Given the description of an element on the screen output the (x, y) to click on. 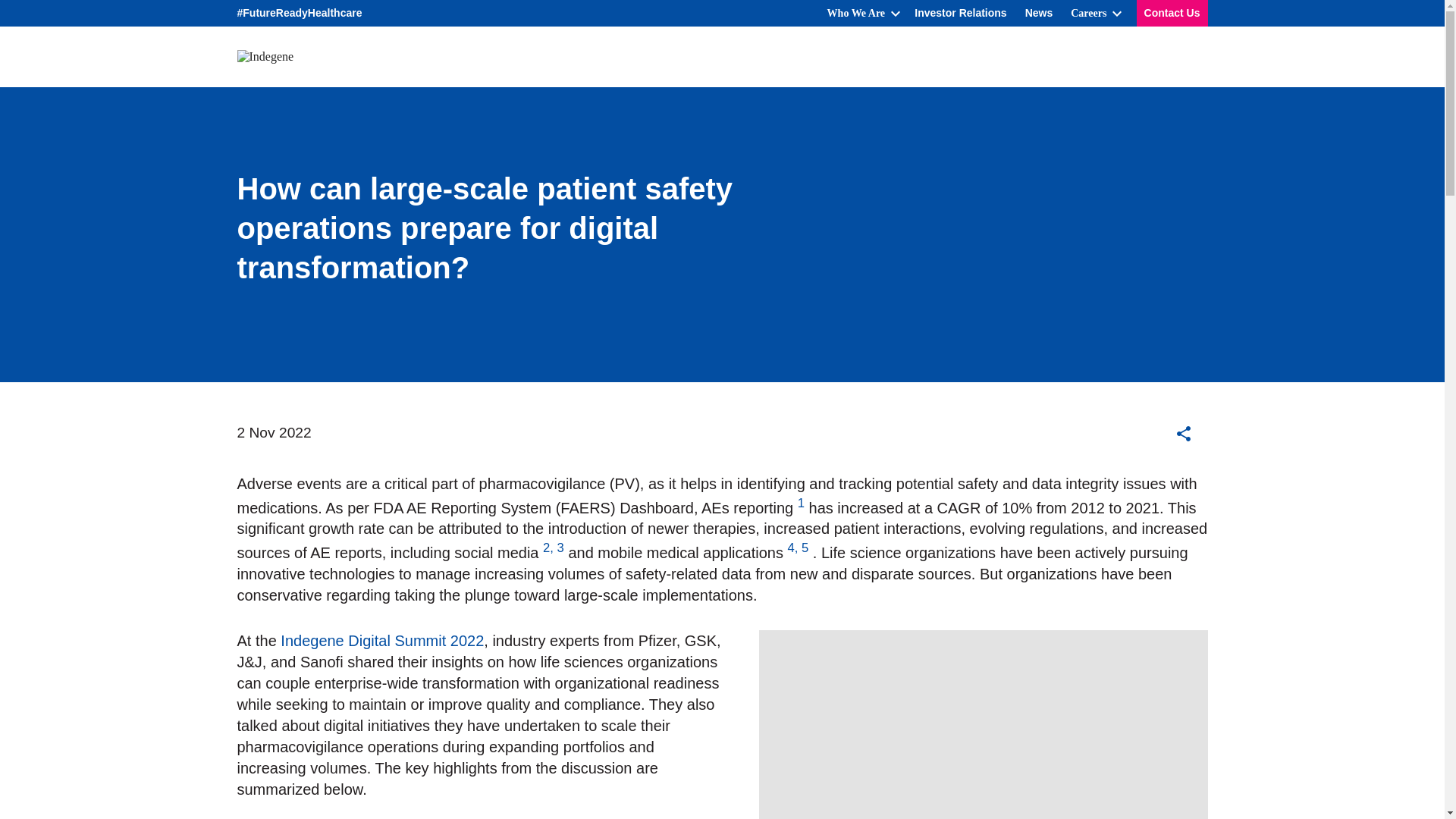
2, 3 (553, 547)
News (1038, 12)
Indegene Digital Summit 2022 (382, 640)
Contact Us (1172, 13)
Contact Us (1172, 12)
4, 5 (797, 547)
Investor Relations (960, 12)
